Given the description of an element on the screen output the (x, y) to click on. 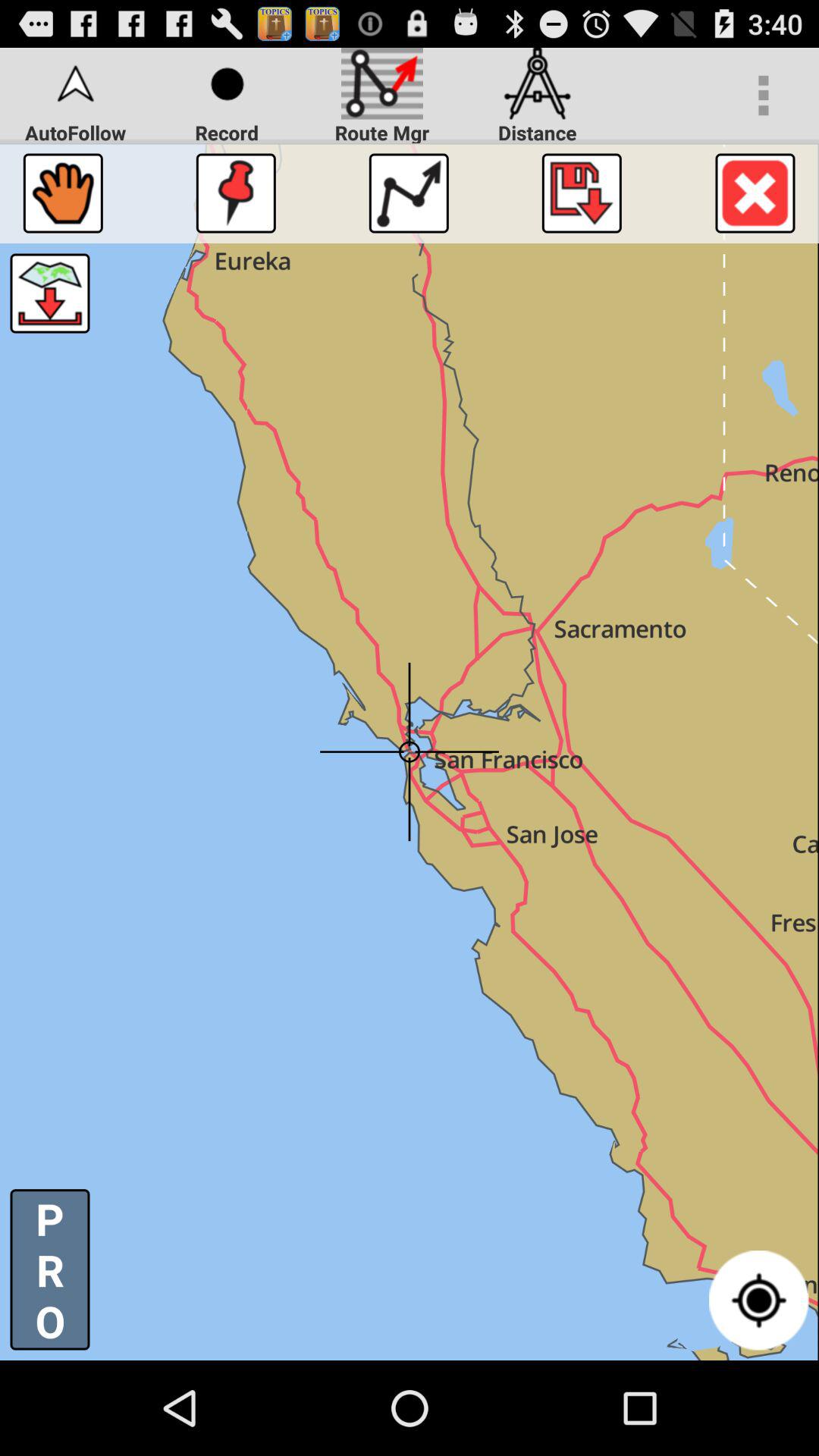
save the location (581, 193)
